Given the description of an element on the screen output the (x, y) to click on. 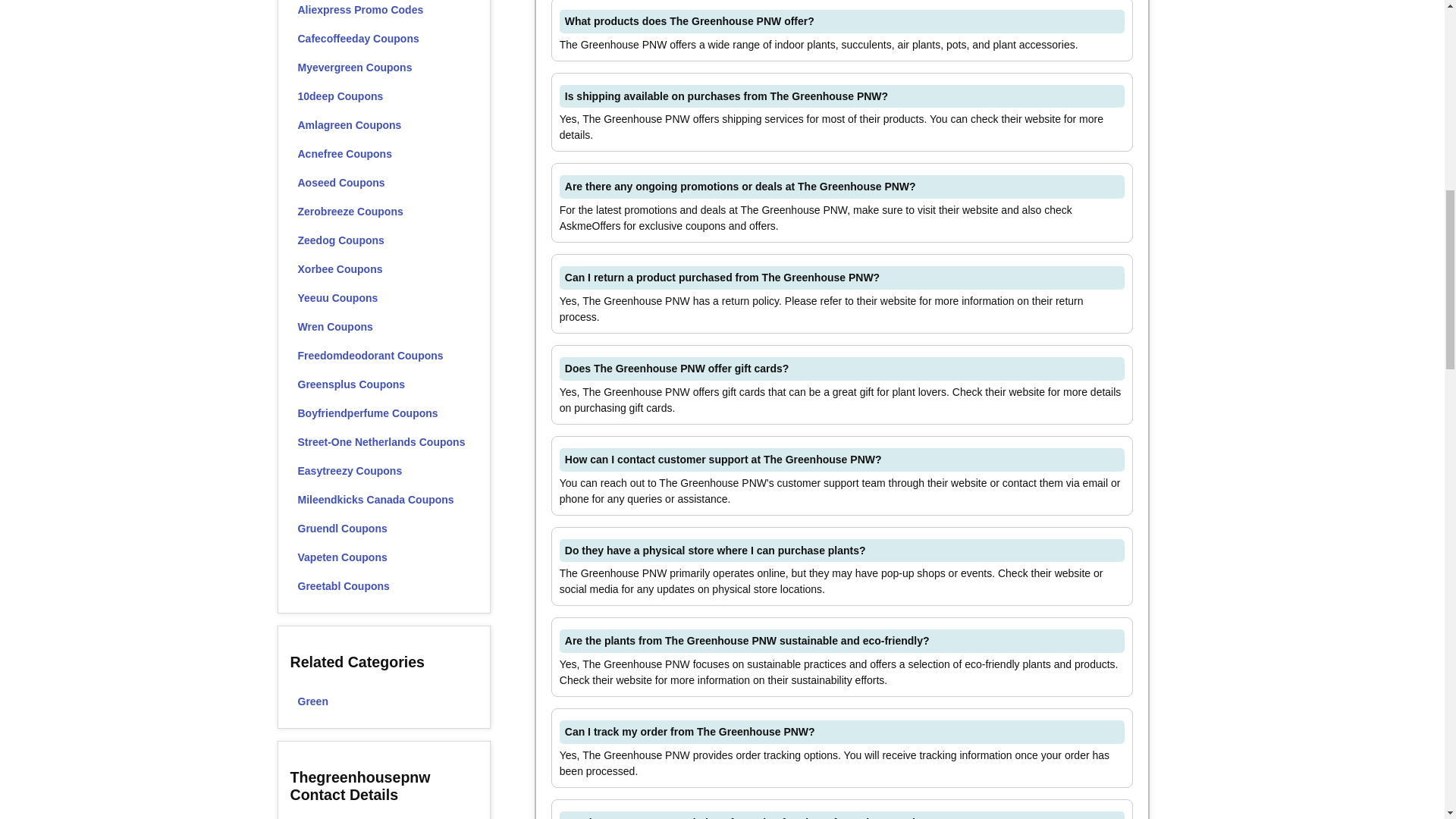
Cafecoffeeday Coupons (383, 38)
Amlagreen Coupons (383, 124)
Myevergreen Coupons (383, 67)
Aliexpress Promo Codes (383, 12)
10deep Coupons (383, 95)
